Given the description of an element on the screen output the (x, y) to click on. 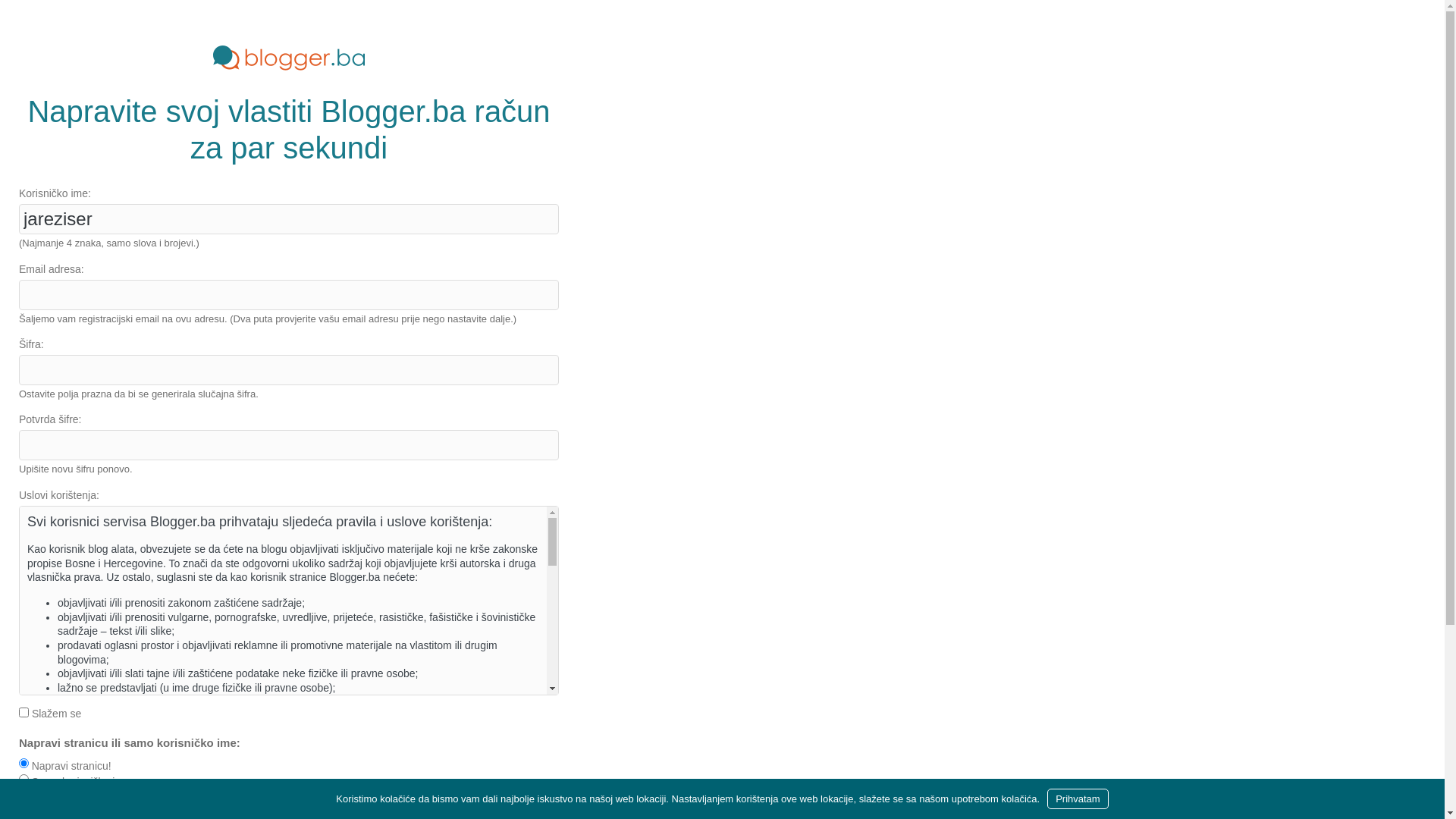
Prihvatam Element type: text (1077, 798)
